Given the description of an element on the screen output the (x, y) to click on. 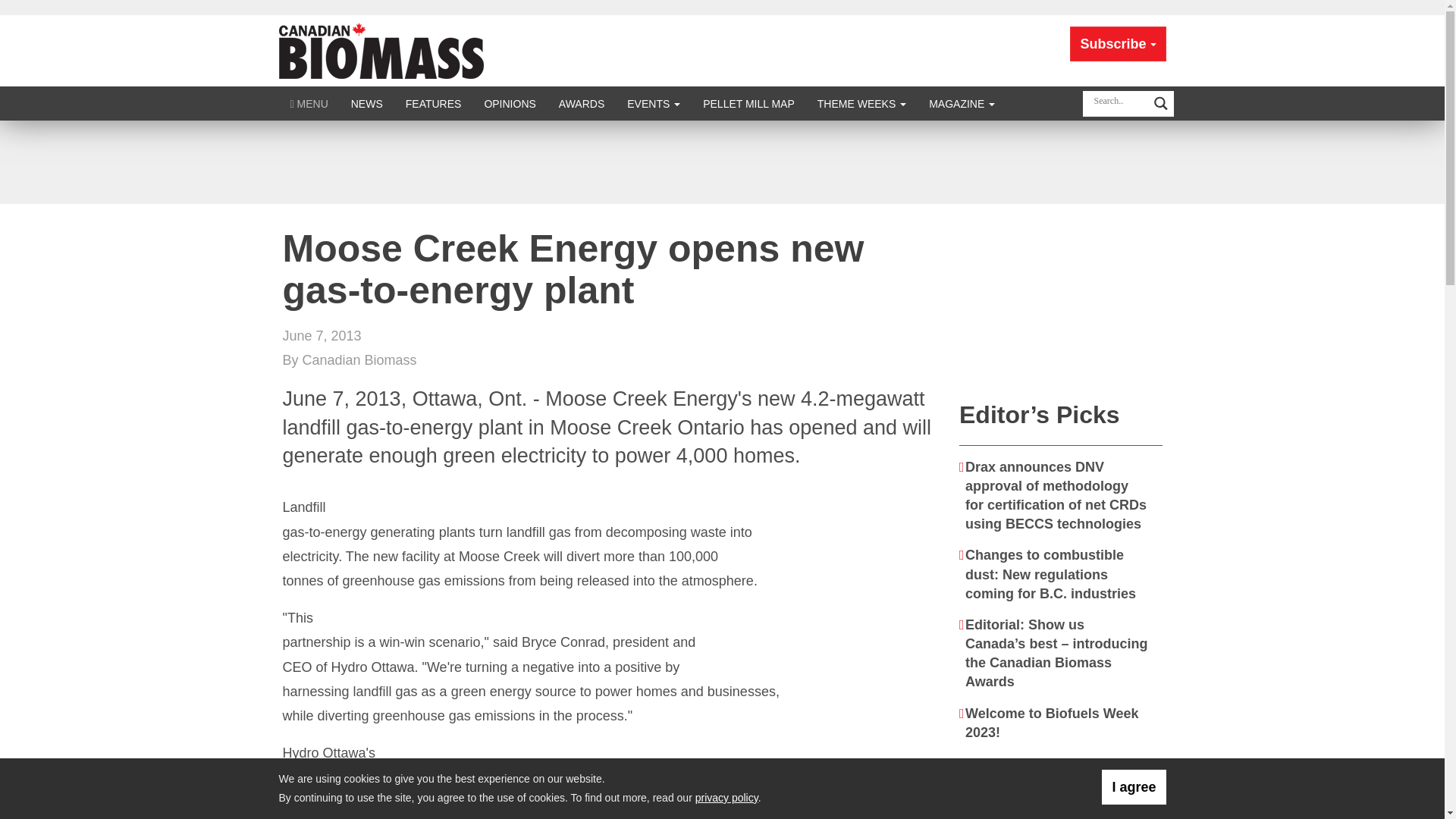
MENU (309, 103)
Subscribe (1118, 43)
NEWS (366, 103)
FEATURES (433, 103)
OPINIONS (509, 103)
PELLET MILL MAP (748, 103)
Canadian Biomass Magazine (381, 49)
Click to show site navigation (309, 103)
AWARDS (581, 103)
3rd party ad content (1060, 298)
3rd party ad content (721, 161)
EVENTS (653, 103)
MAGAZINE (961, 103)
THEME WEEKS (861, 103)
